Given the description of an element on the screen output the (x, y) to click on. 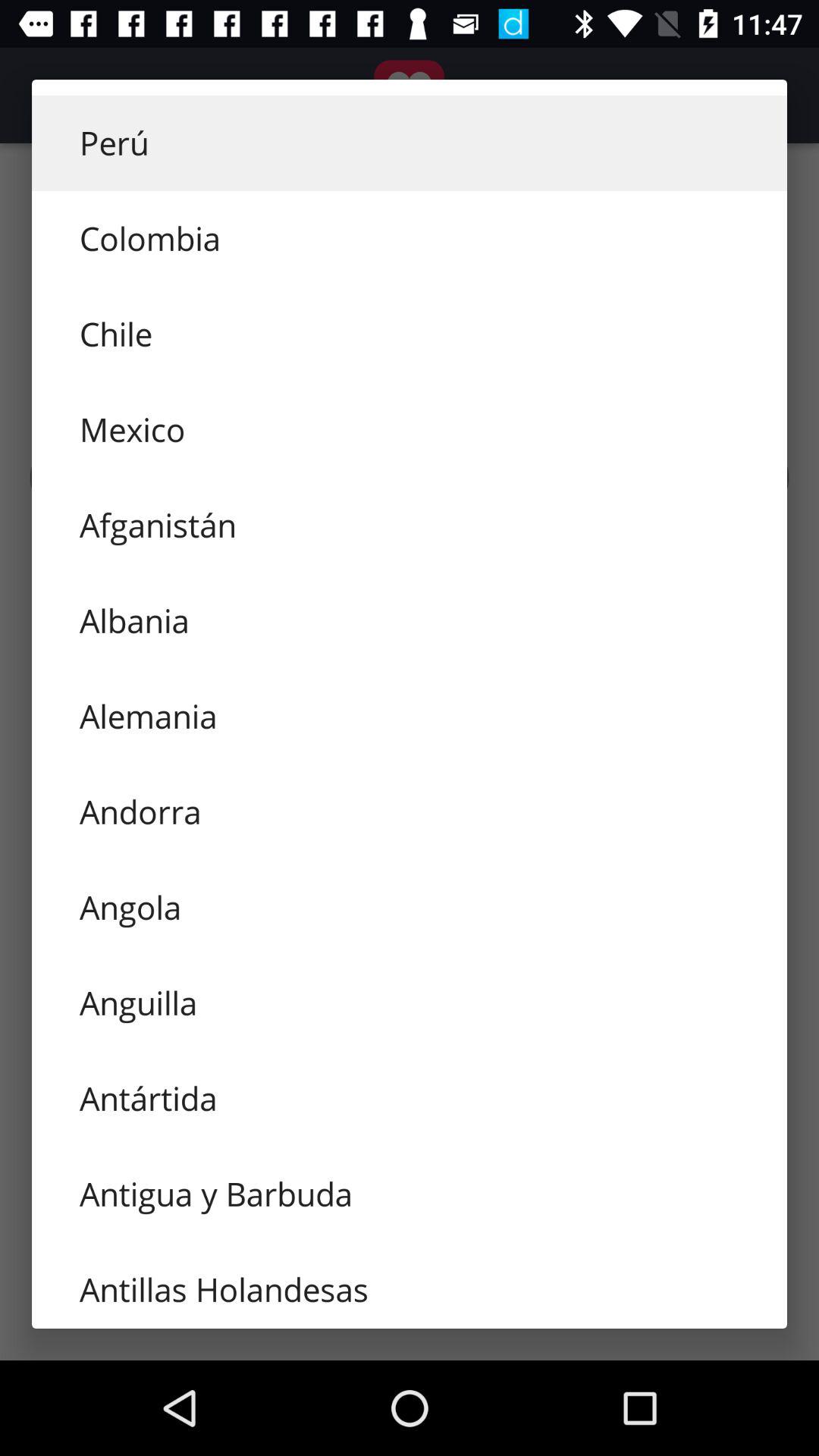
open icon above mexico icon (409, 334)
